Given the description of an element on the screen output the (x, y) to click on. 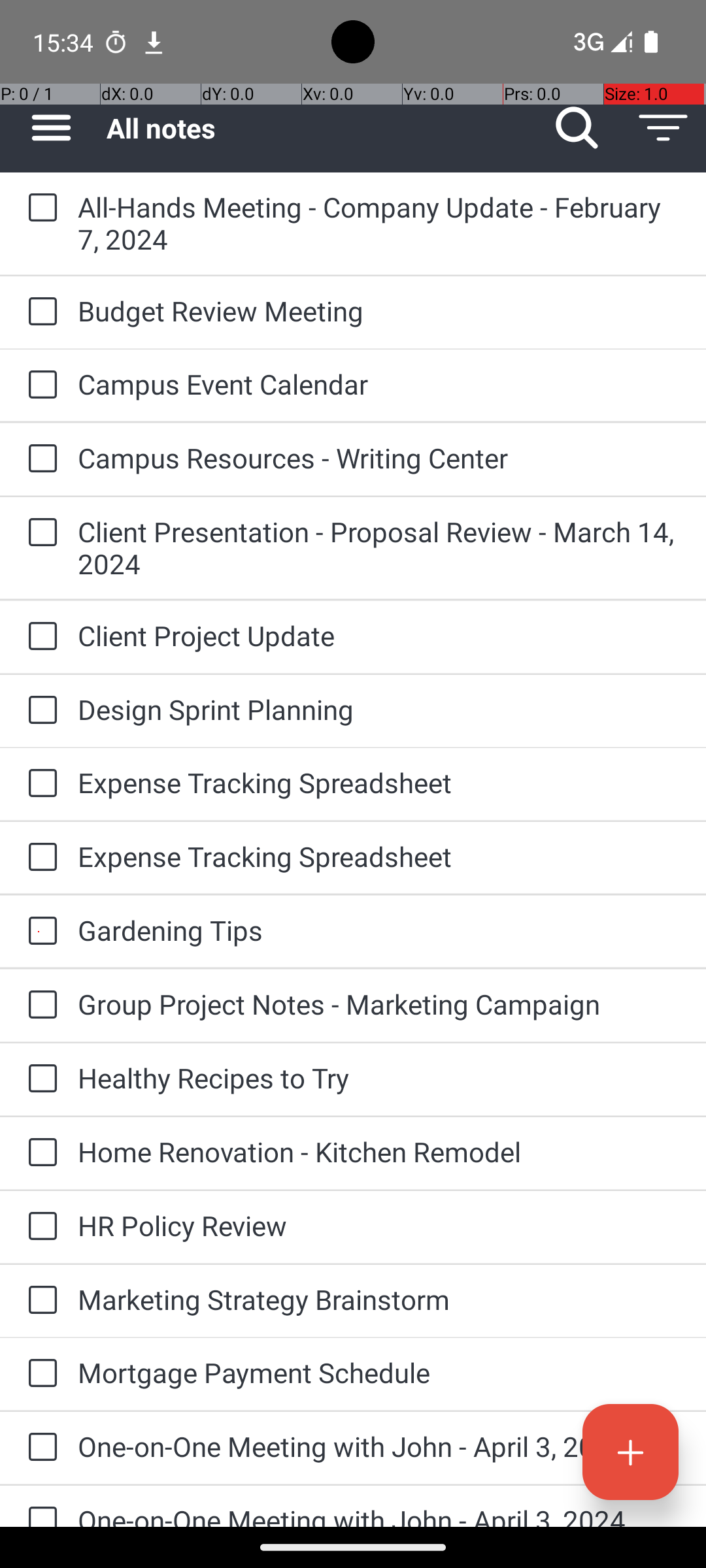
to-do: Campus Resources - Writing Center Element type: android.widget.CheckBox (38, 459)
Campus Resources - Writing Center Element type: android.widget.TextView (378, 457)
to-do: Client Presentation - Proposal Review - March 14, 2024 Element type: android.widget.CheckBox (38, 533)
Client Presentation - Proposal Review - March 14, 2024 Element type: android.widget.TextView (378, 547)
to-do: Expense Tracking Spreadsheet Element type: android.widget.CheckBox (38, 783)
to-do: Healthy Recipes to Try Element type: android.widget.CheckBox (38, 1079)
Healthy Recipes to Try Element type: android.widget.TextView (378, 1077)
to-do: Home Renovation - Kitchen Remodel Element type: android.widget.CheckBox (38, 1153)
Home Renovation - Kitchen Remodel Element type: android.widget.TextView (378, 1151)
to-do: Marketing Strategy Brainstorm Element type: android.widget.CheckBox (38, 1300)
Marketing Strategy Brainstorm Element type: android.widget.TextView (378, 1298)
